Given the description of an element on the screen output the (x, y) to click on. 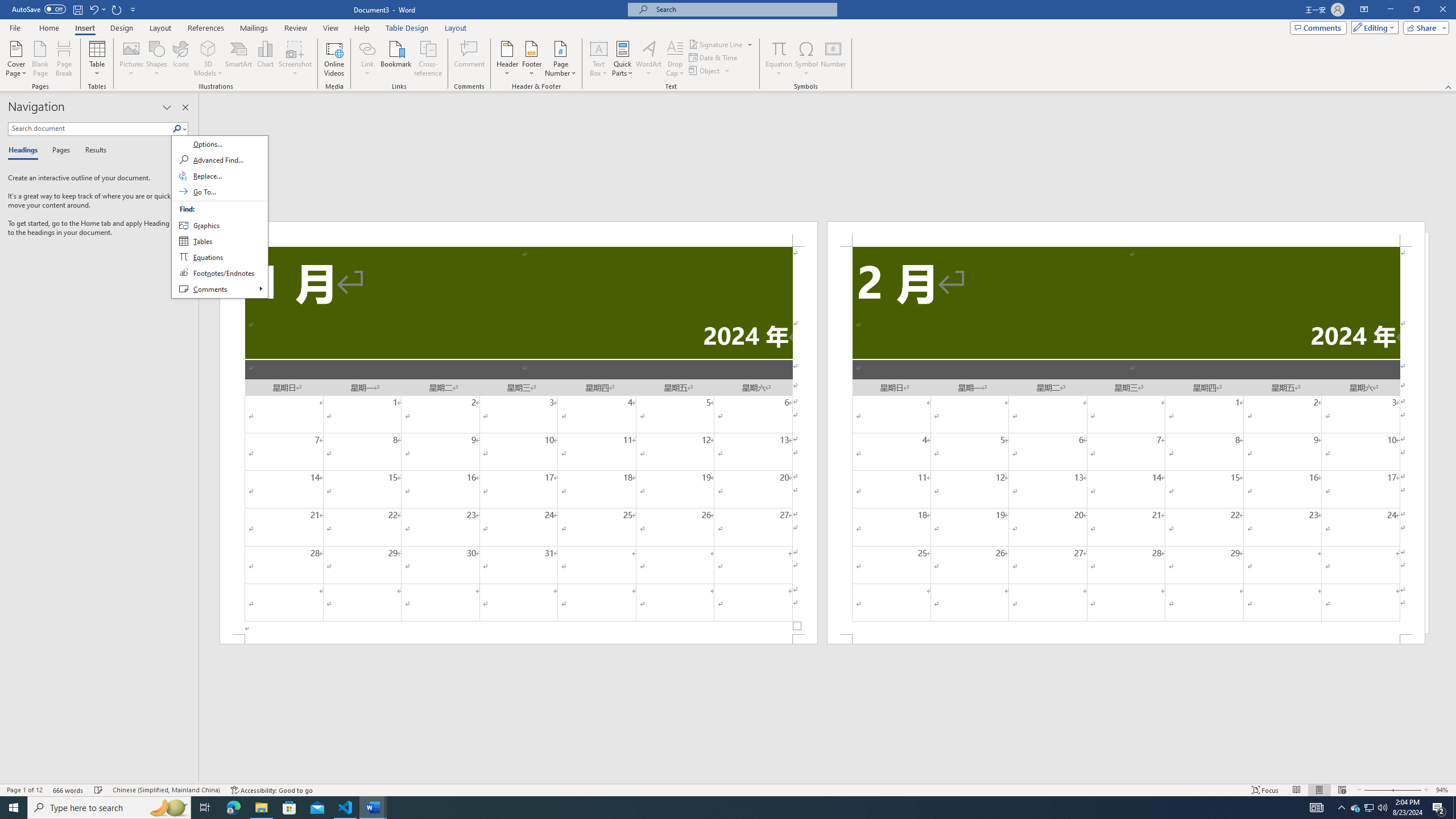
Signature Line (721, 44)
Number... (833, 58)
